Given the description of an element on the screen output the (x, y) to click on. 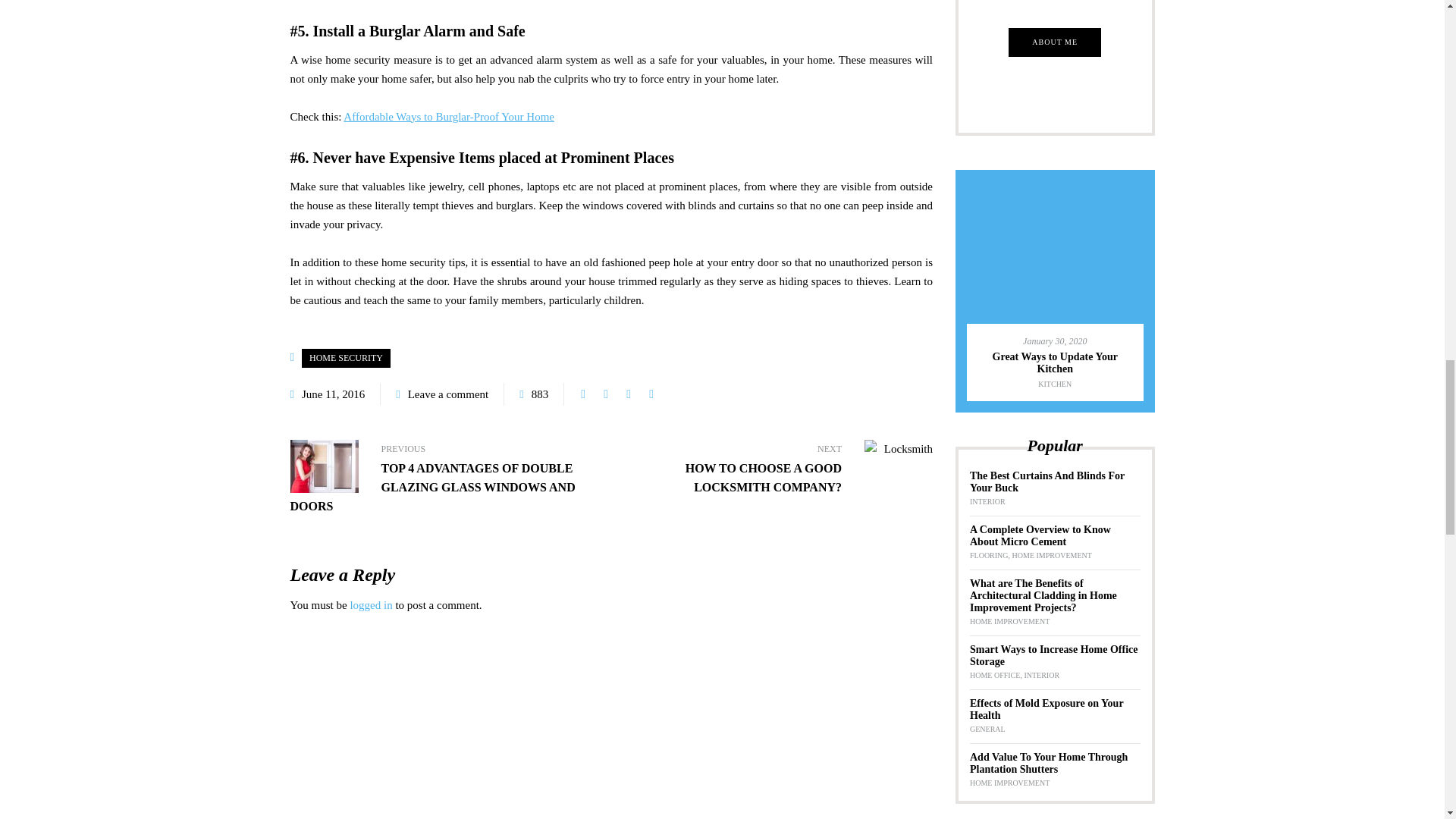
HOME SECURITY (345, 357)
Post comments (441, 394)
Share with Google Plus (628, 394)
Tweet this (605, 394)
Leave a comment (448, 394)
Share this (583, 394)
Post views (533, 394)
Affordable Ways to Burglar-Proof Your Home (448, 116)
Pin this (651, 394)
